Given the description of an element on the screen output the (x, y) to click on. 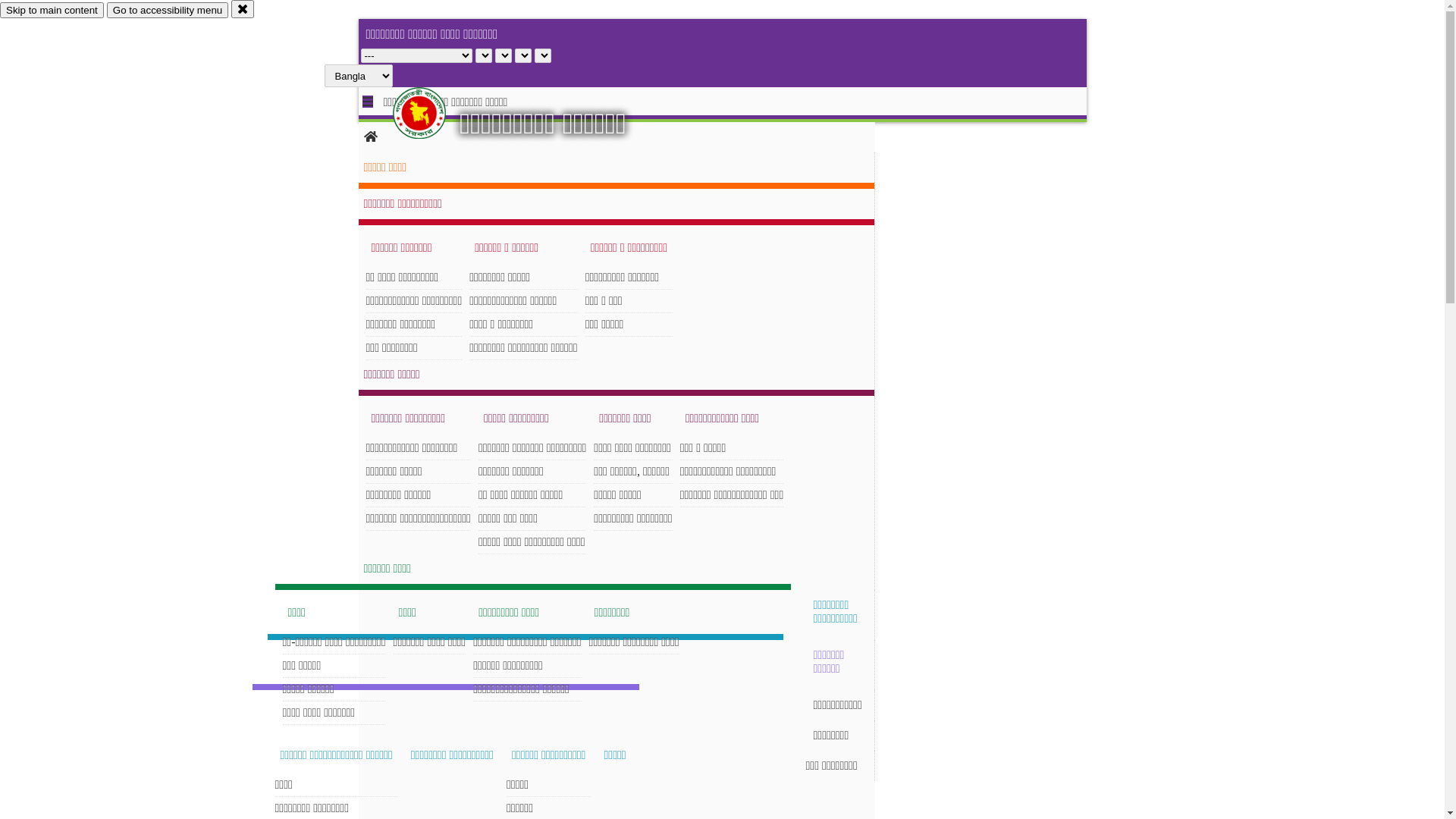

                
             Element type: hover (431, 112)
Skip to main content Element type: text (51, 10)
Go to accessibility menu Element type: text (167, 10)
close Element type: hover (242, 9)
